Given the description of an element on the screen output the (x, y) to click on. 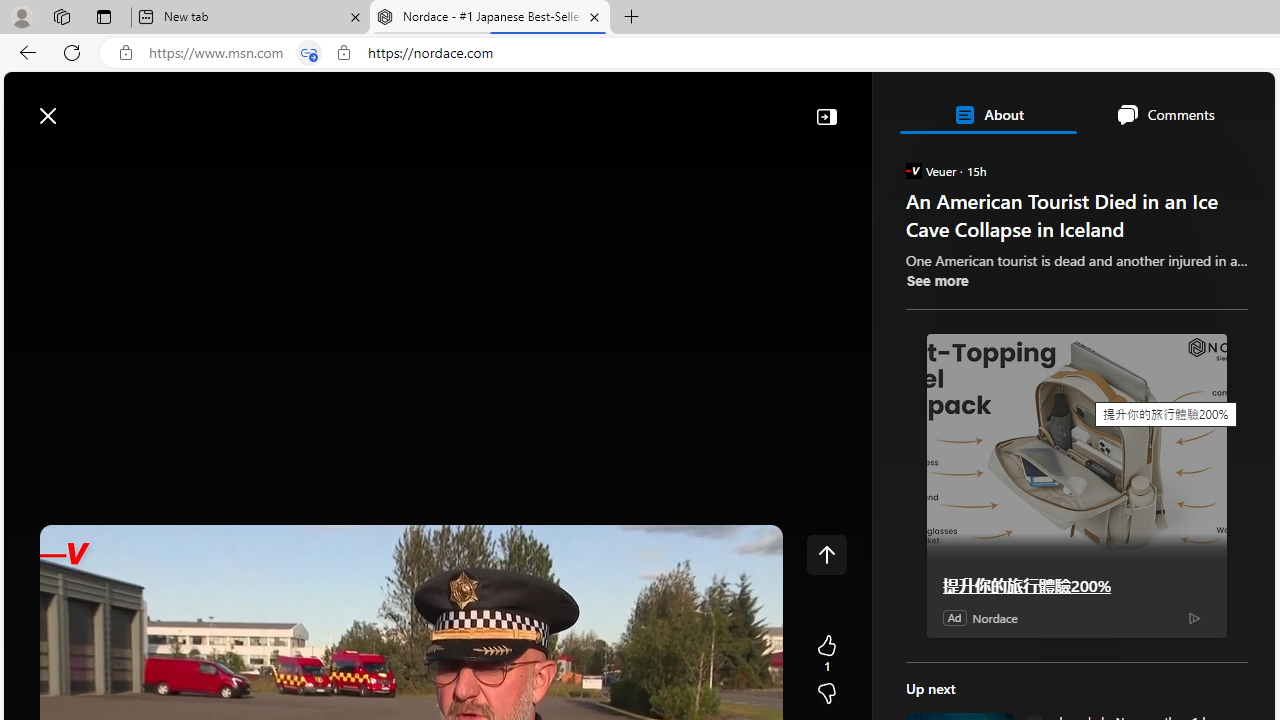
Open settings (1230, 105)
View site information (343, 53)
Following (172, 162)
Microsoft rewards (1151, 105)
Nordace - #1 Japanese Best-Seller - Siena Smart Backpack (490, 17)
Tab actions menu (104, 16)
Class: button-glyph (29, 162)
Class: control icon-only (826, 554)
Veuer (912, 170)
Tabs in split screen (308, 53)
